Given the description of an element on the screen output the (x, y) to click on. 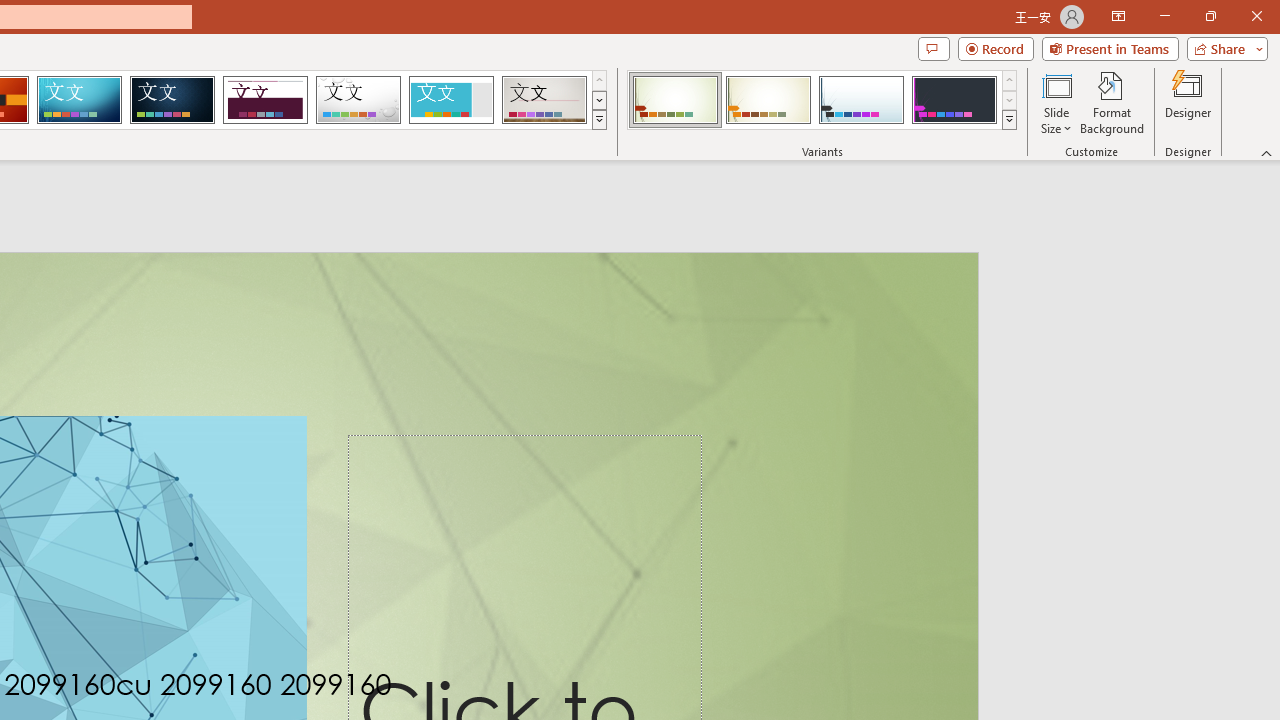
Row Down (1009, 100)
AutomationID: ThemeVariantsGallery (822, 99)
Gallery Loading Preview... (544, 100)
Variants (1009, 120)
Wisp Variant 4 (953, 100)
Wisp Variant 2 (768, 100)
Designer (1188, 102)
Frame Loading Preview... (450, 100)
Dividend Loading Preview... (265, 100)
Ribbon Display Options (1118, 16)
Format Background (1111, 102)
Wisp Variant 3 (861, 100)
Slide Size (1056, 102)
Themes (598, 120)
